Given the description of an element on the screen output the (x, y) to click on. 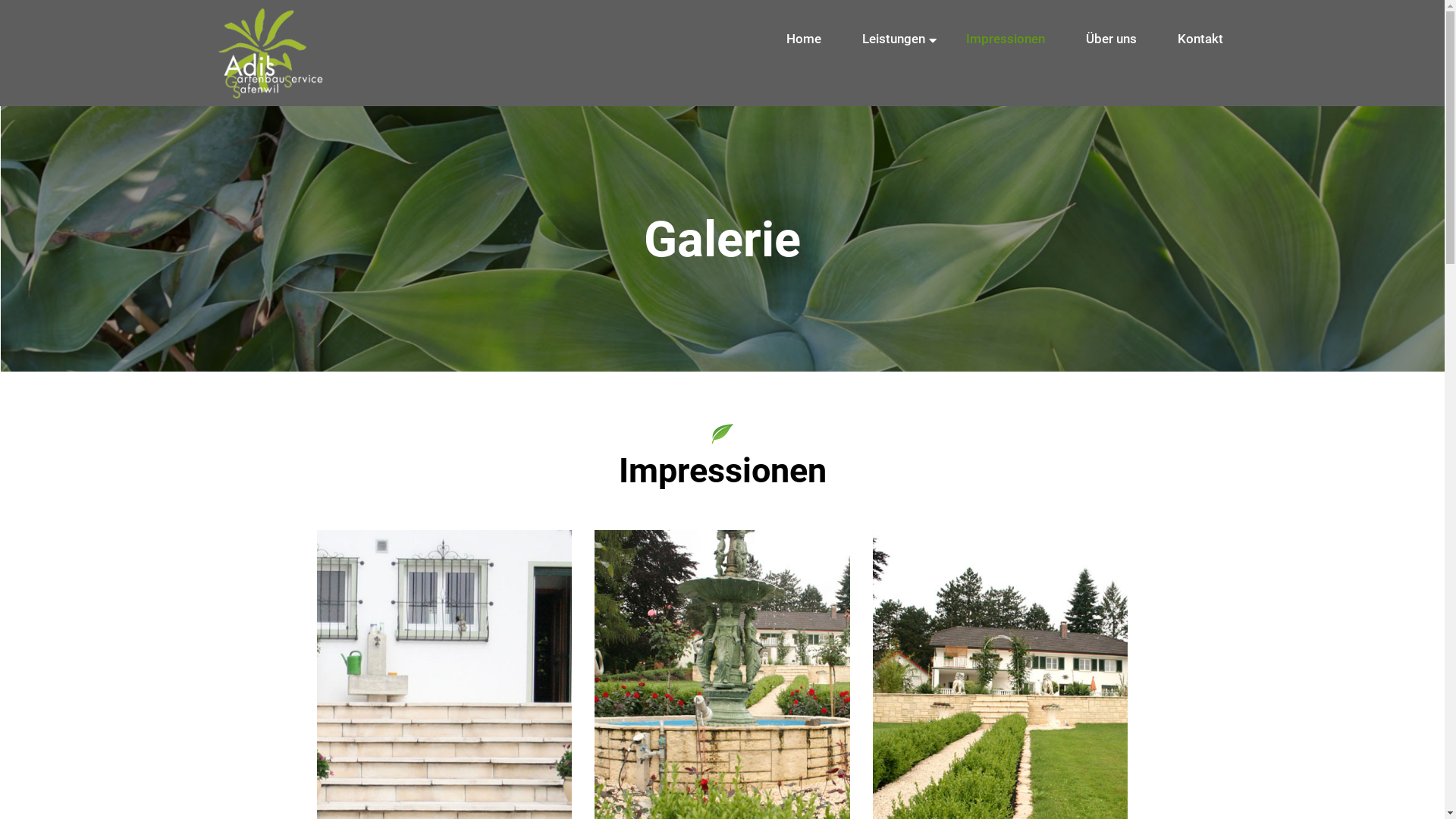
Home Element type: text (802, 38)
Kontakt Element type: text (1199, 38)
Impressionen Element type: text (1005, 38)
Leistungen Element type: text (892, 38)
